Given the description of an element on the screen output the (x, y) to click on. 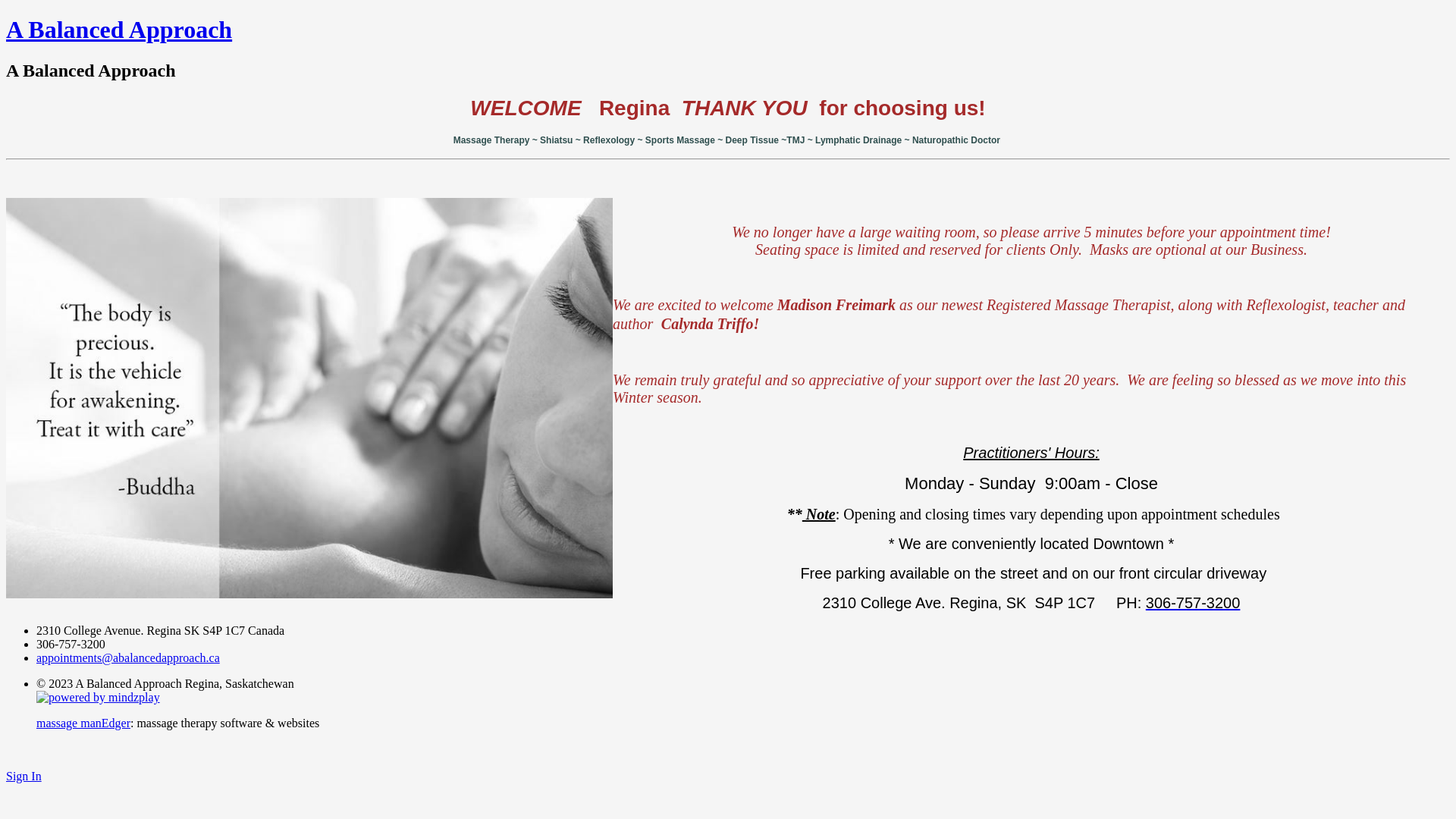
306-757-3200 Element type: text (1192, 602)
massage manEdger Element type: text (83, 722)
A Balanced Approach Element type: text (119, 29)
Sign In Element type: text (23, 775)
appointments@abalancedapproach.ca Element type: text (127, 657)
